Given the description of an element on the screen output the (x, y) to click on. 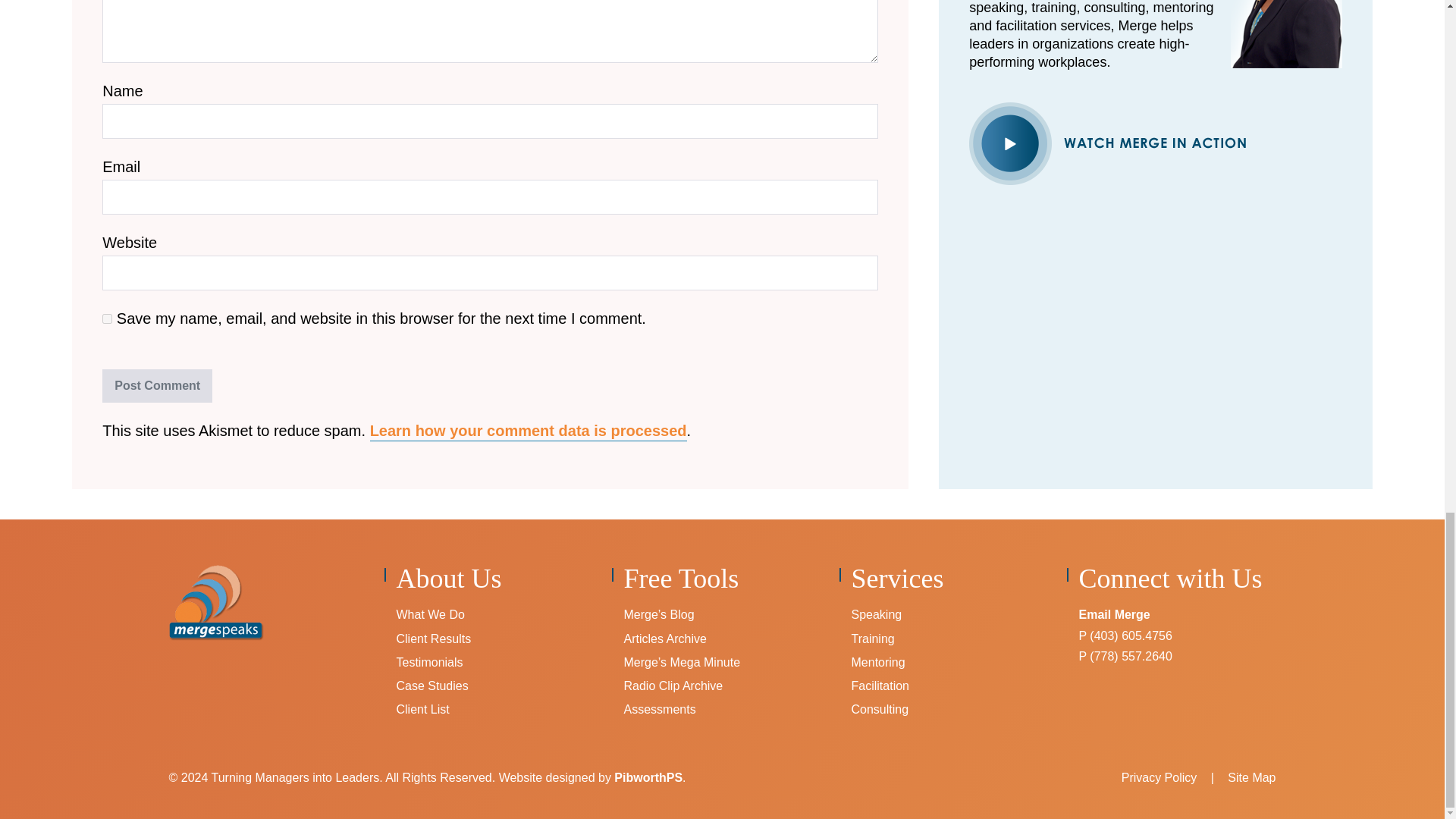
Post Comment (156, 385)
yes (106, 318)
merge-speaks-logo (215, 602)
